Given the description of an element on the screen output the (x, y) to click on. 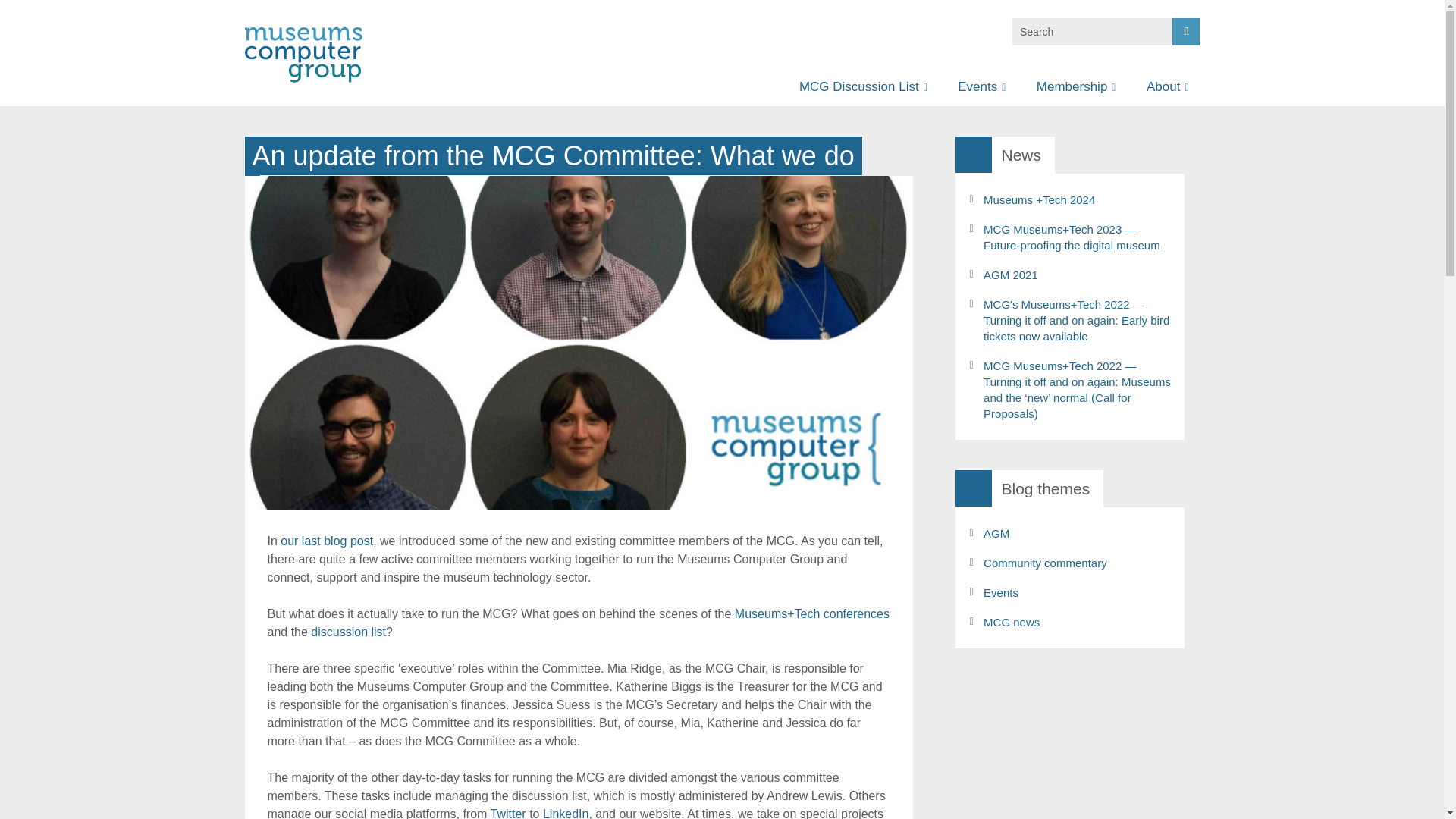
Become an individual member (1093, 132)
discussion list (348, 631)
Join the MCG list (856, 123)
About (1165, 86)
MCG Discussion List (860, 86)
LinkedIn (566, 813)
our last blog post (326, 540)
News (1203, 123)
Twitter (507, 813)
Membership (1073, 86)
Events (979, 86)
AGM (1077, 533)
AGM 2021 (1077, 274)
